Given the description of an element on the screen output the (x, y) to click on. 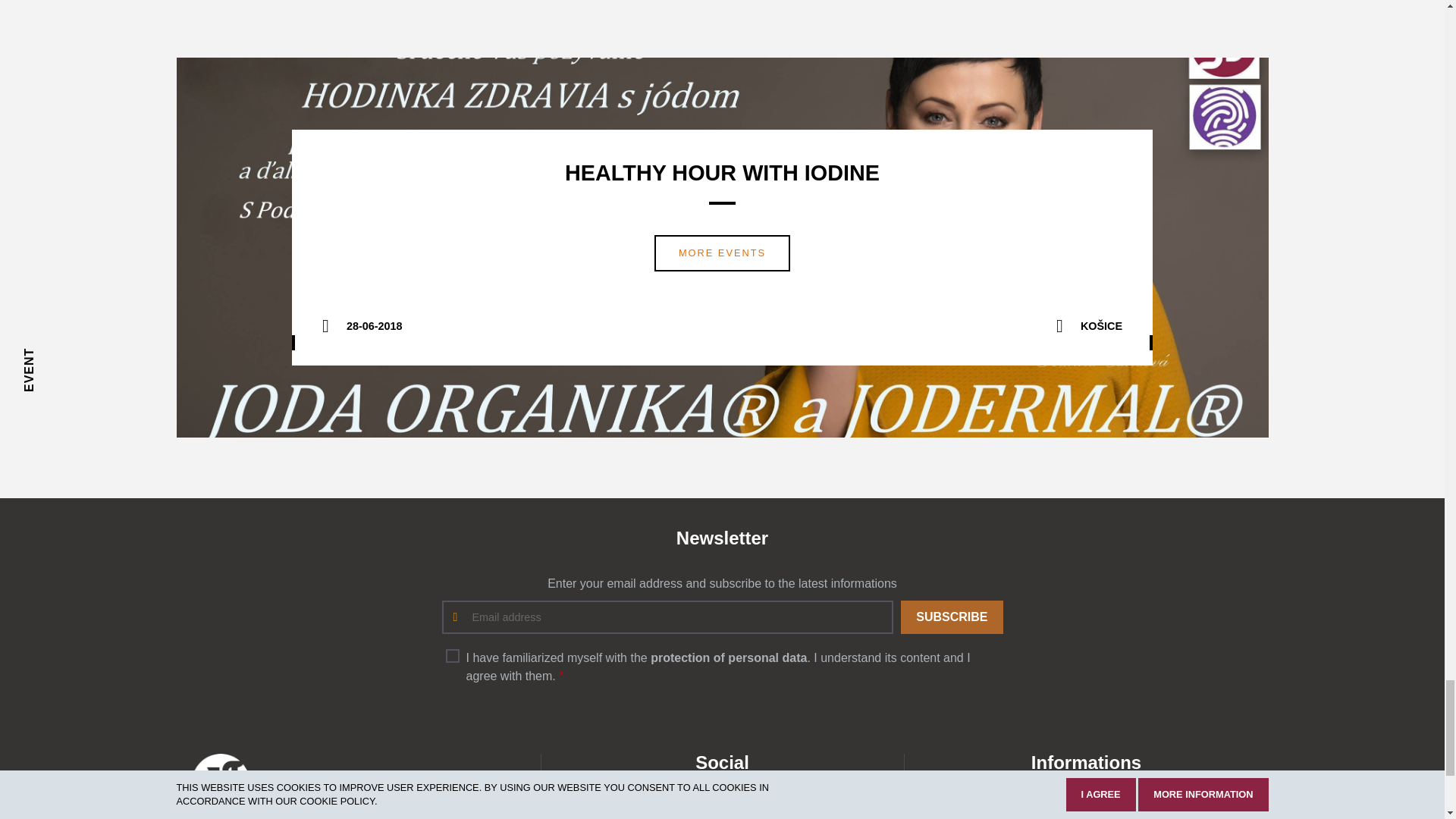
Subscribe (952, 616)
